Given the description of an element on the screen output the (x, y) to click on. 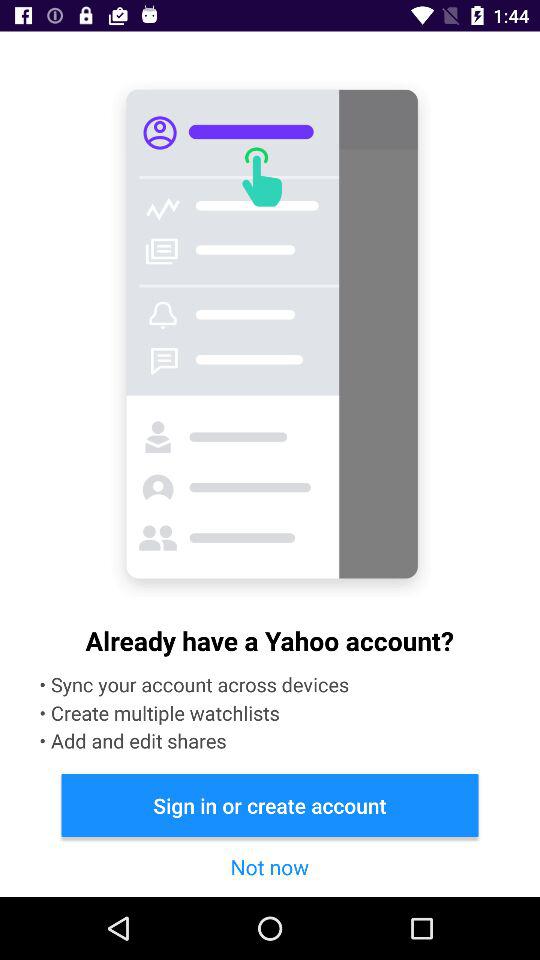
turn off item above not now icon (269, 804)
